Given the description of an element on the screen output the (x, y) to click on. 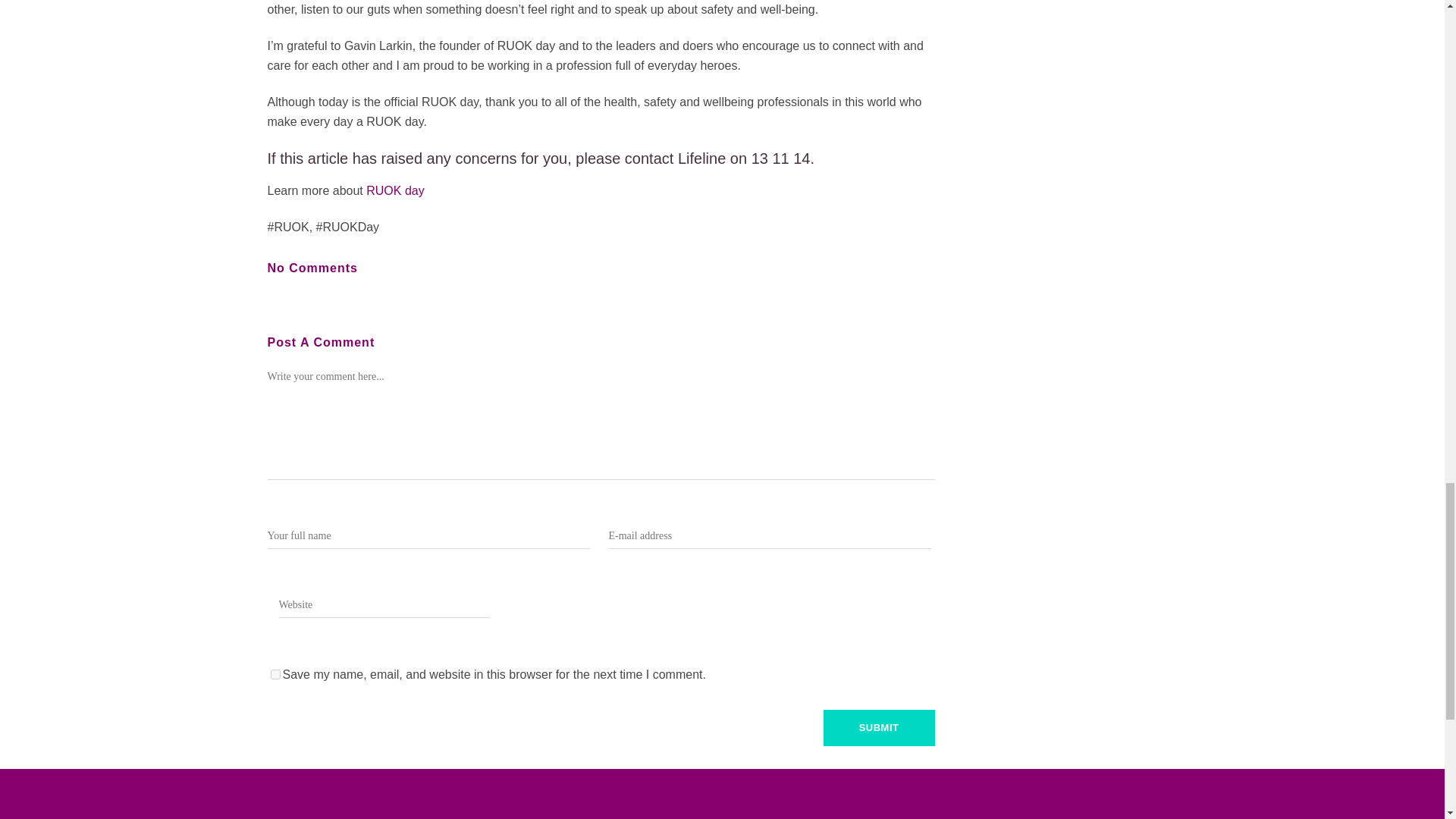
Lifeline (701, 158)
Submit (879, 728)
RUOK day (394, 189)
yes (274, 674)
Submit (879, 728)
